Given the description of an element on the screen output the (x, y) to click on. 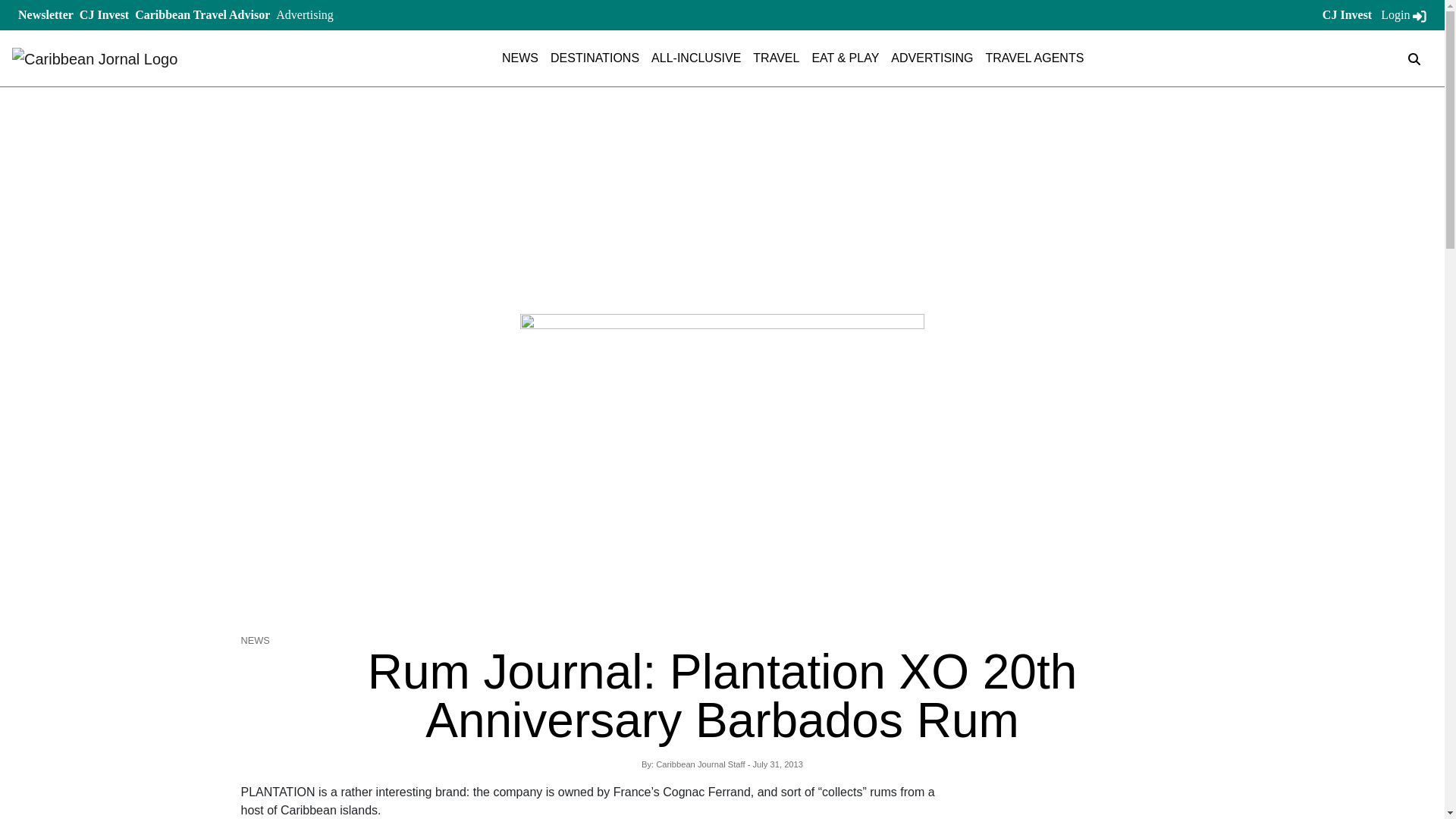
ADVERTISING (931, 57)
TRAVEL (775, 57)
CJ Invest (104, 14)
TRAVEL AGENTS (1034, 57)
Newsletter (45, 14)
Login (1403, 14)
Caribbean Travel Advisor (202, 14)
DESTINATIONS (594, 57)
ALL-INCLUSIVE (695, 57)
Advertising (304, 14)
NEWS (520, 57)
